Given the description of an element on the screen output the (x, y) to click on. 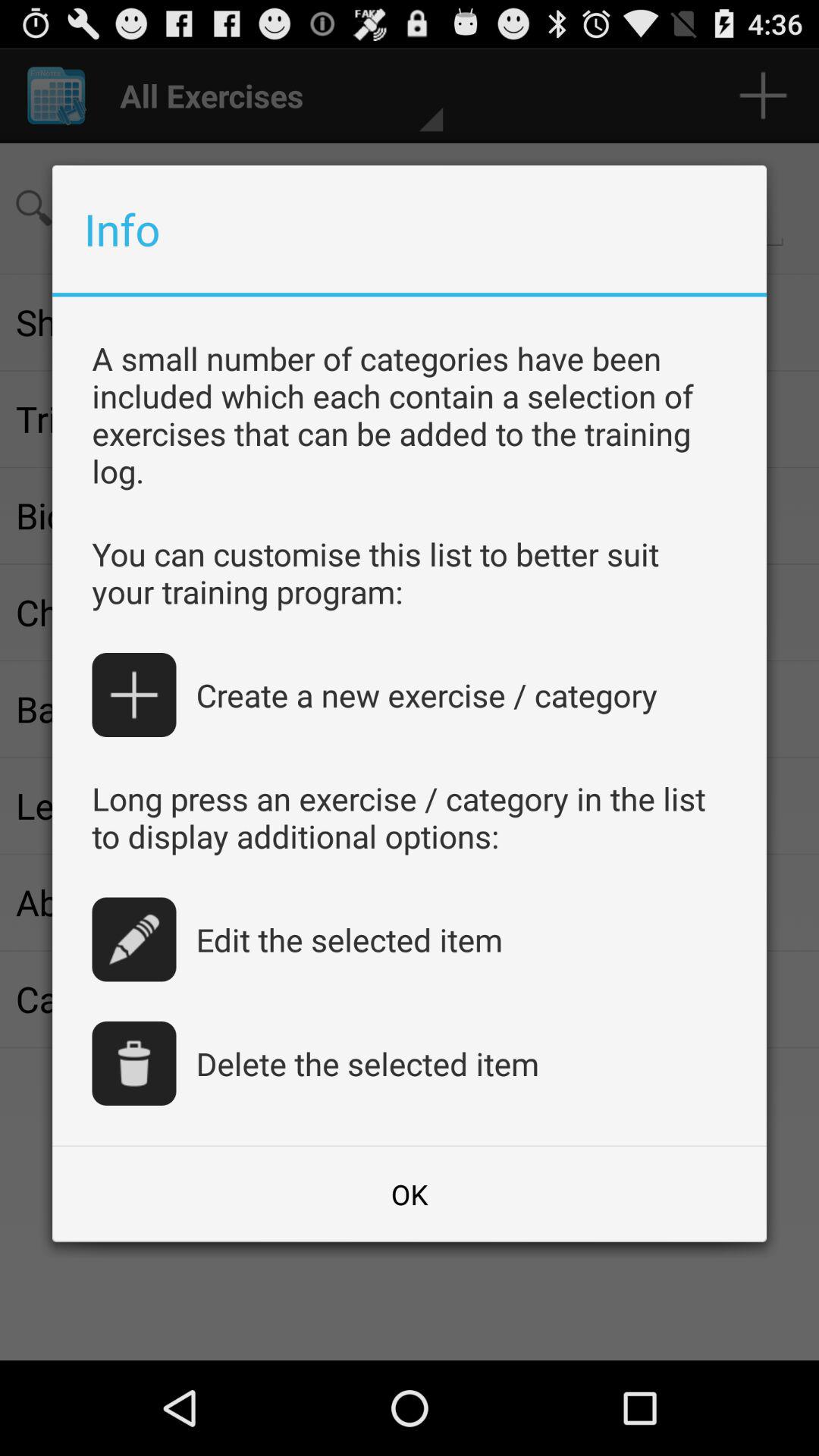
turn on the ok icon (409, 1194)
